Given the description of an element on the screen output the (x, y) to click on. 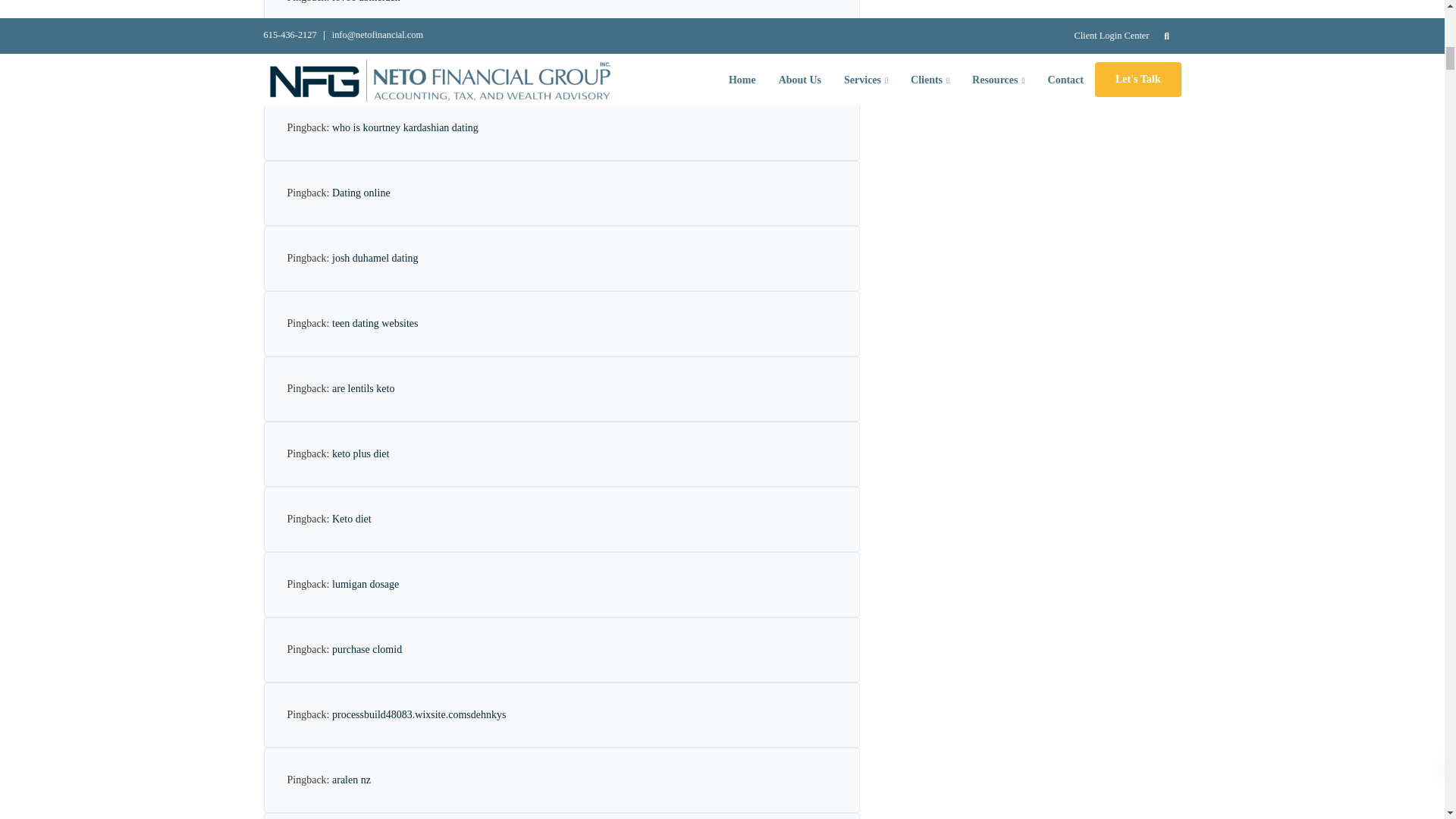
zeus online dating (370, 61)
who is kourtney kardashian dating (405, 127)
are lentils keto (362, 388)
josh duhamel dating (375, 257)
Dating online (360, 193)
lovoo abmelden (365, 1)
teen dating websites (375, 323)
